Given the description of an element on the screen output the (x, y) to click on. 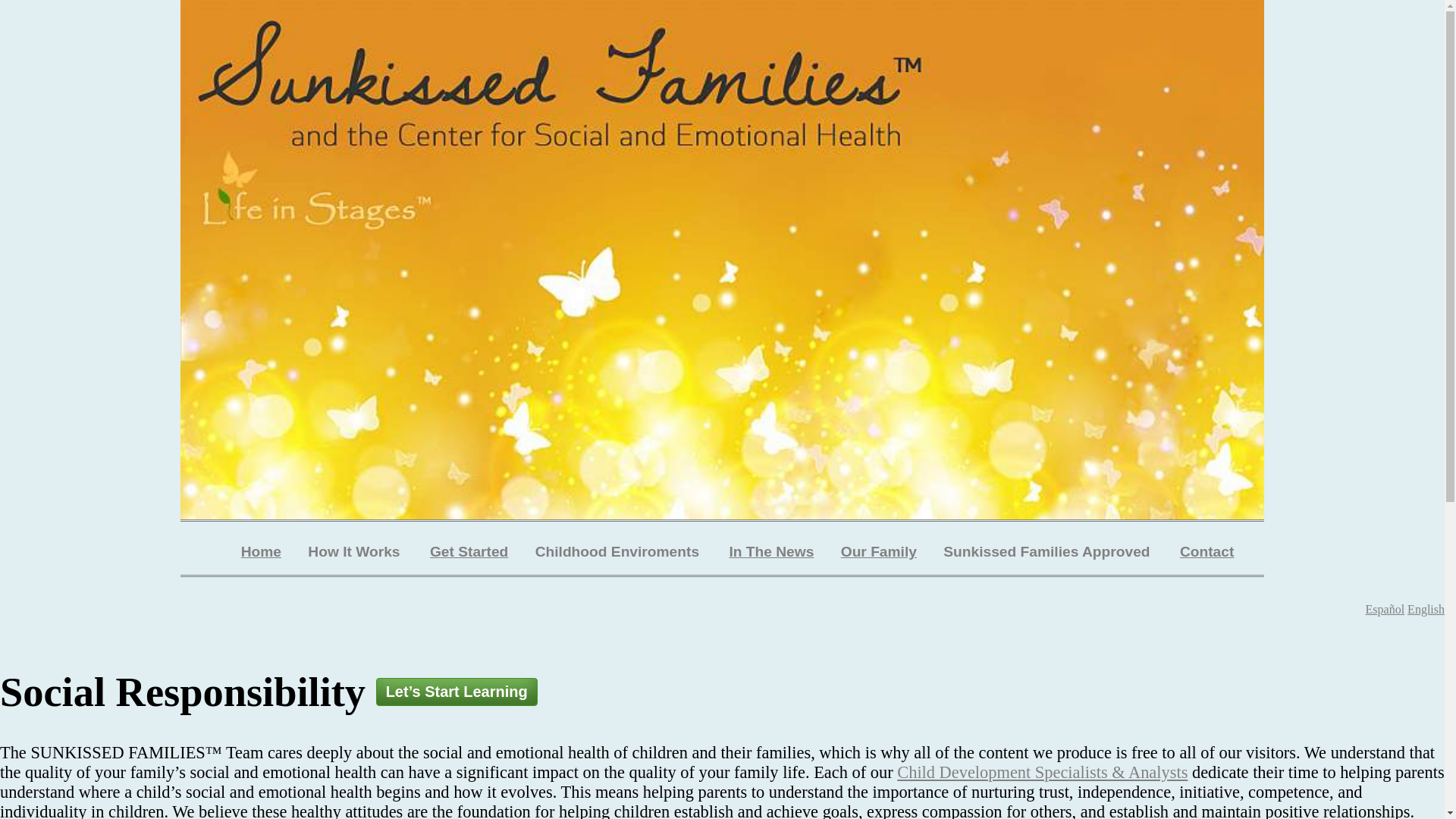
In The News (771, 551)
How It Works (355, 551)
Childhood Enviroments (618, 551)
Our Family (878, 551)
Sunkissed Families Approved (1047, 551)
Get Started (469, 551)
Home (261, 551)
